Given the description of an element on the screen output the (x, y) to click on. 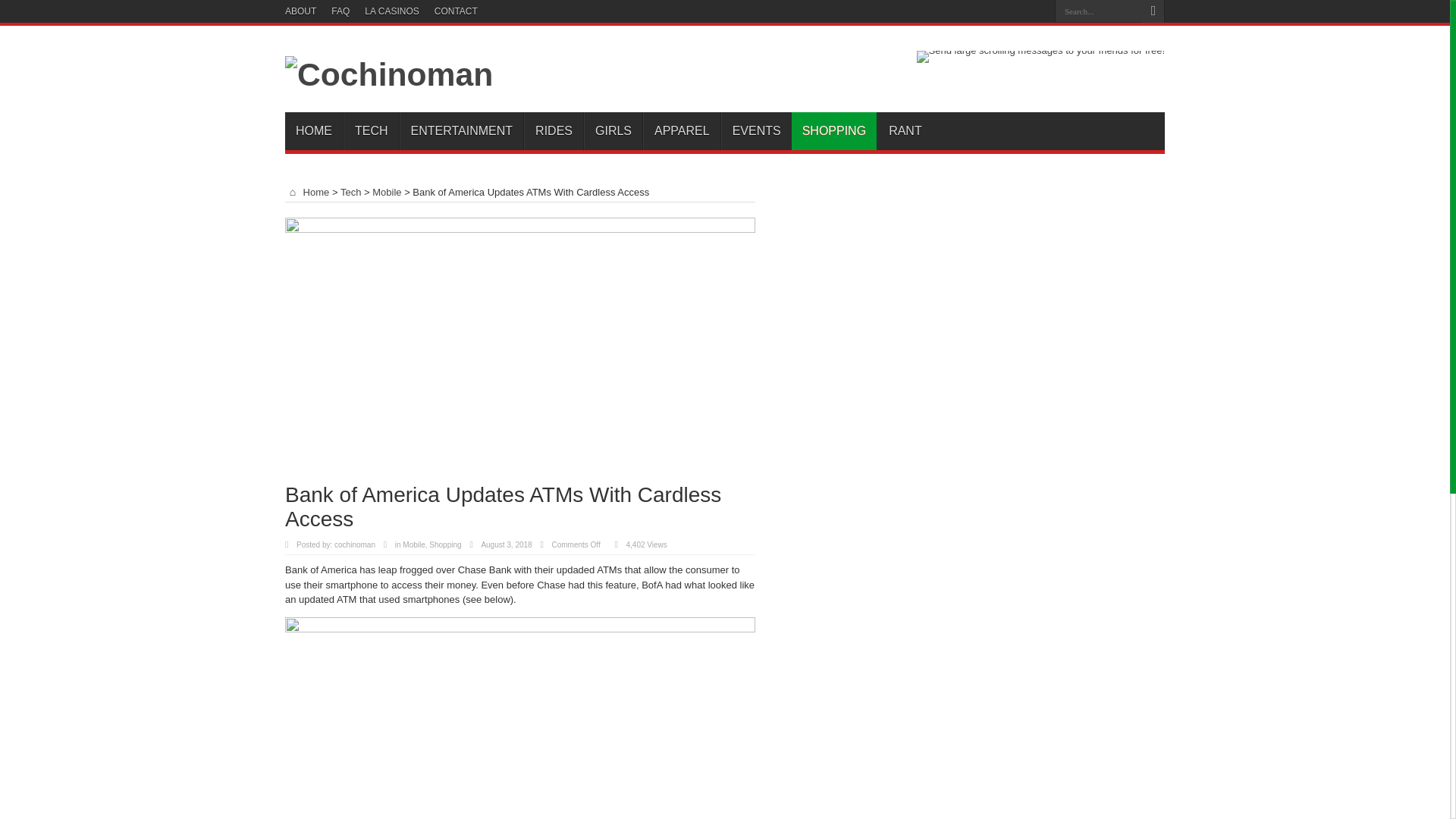
EVENTS (756, 130)
RANT (905, 130)
Shopping (445, 544)
APPAREL (681, 130)
RIDES (553, 130)
HOME (313, 130)
Search... (1097, 11)
Search (1152, 11)
ABOUT (300, 11)
Send large scrolling messages to your friends for free! (1040, 50)
